Given the description of an element on the screen output the (x, y) to click on. 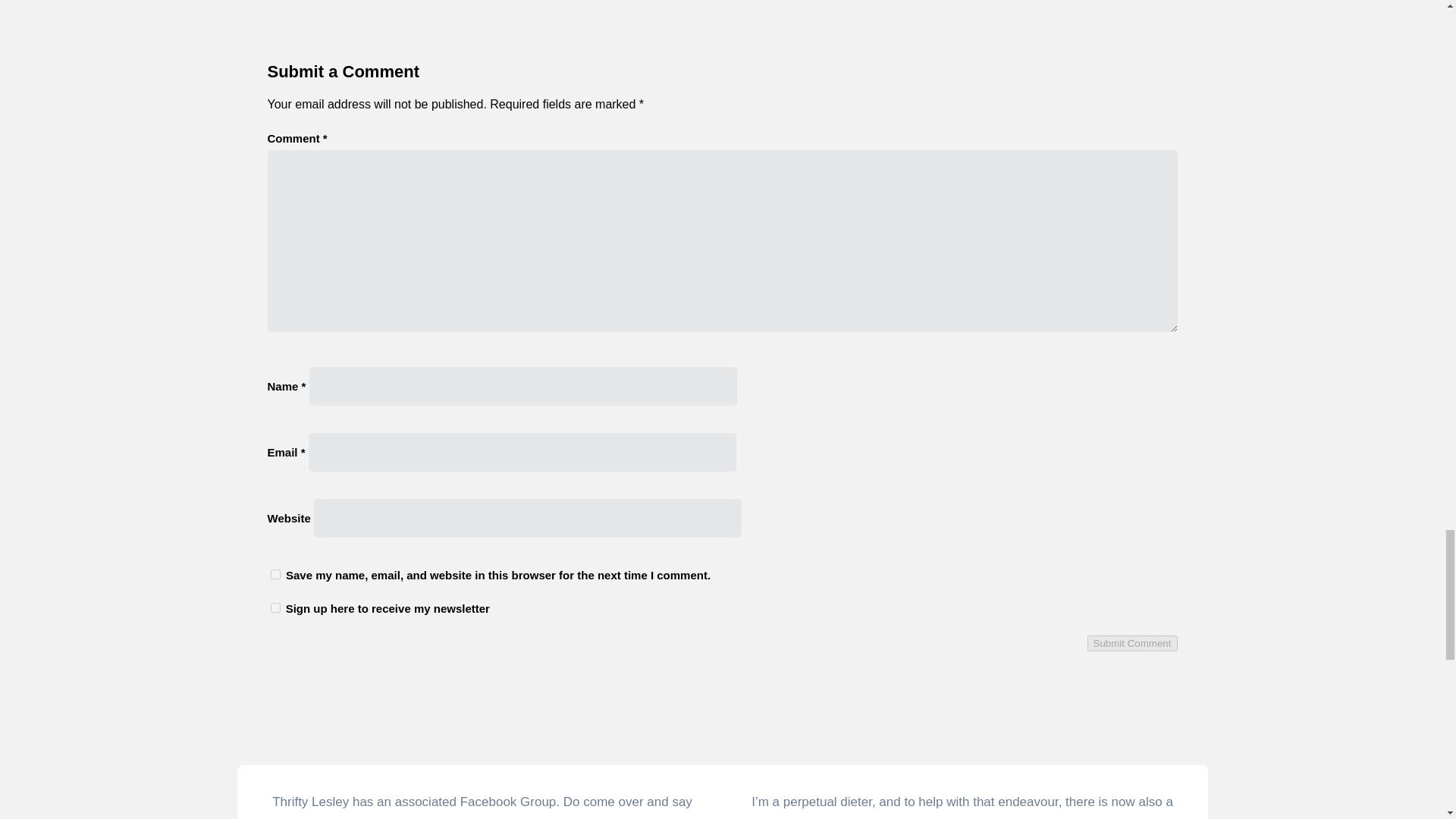
Submit Comment (1132, 643)
yes (274, 574)
1 (274, 607)
